Given the description of an element on the screen output the (x, y) to click on. 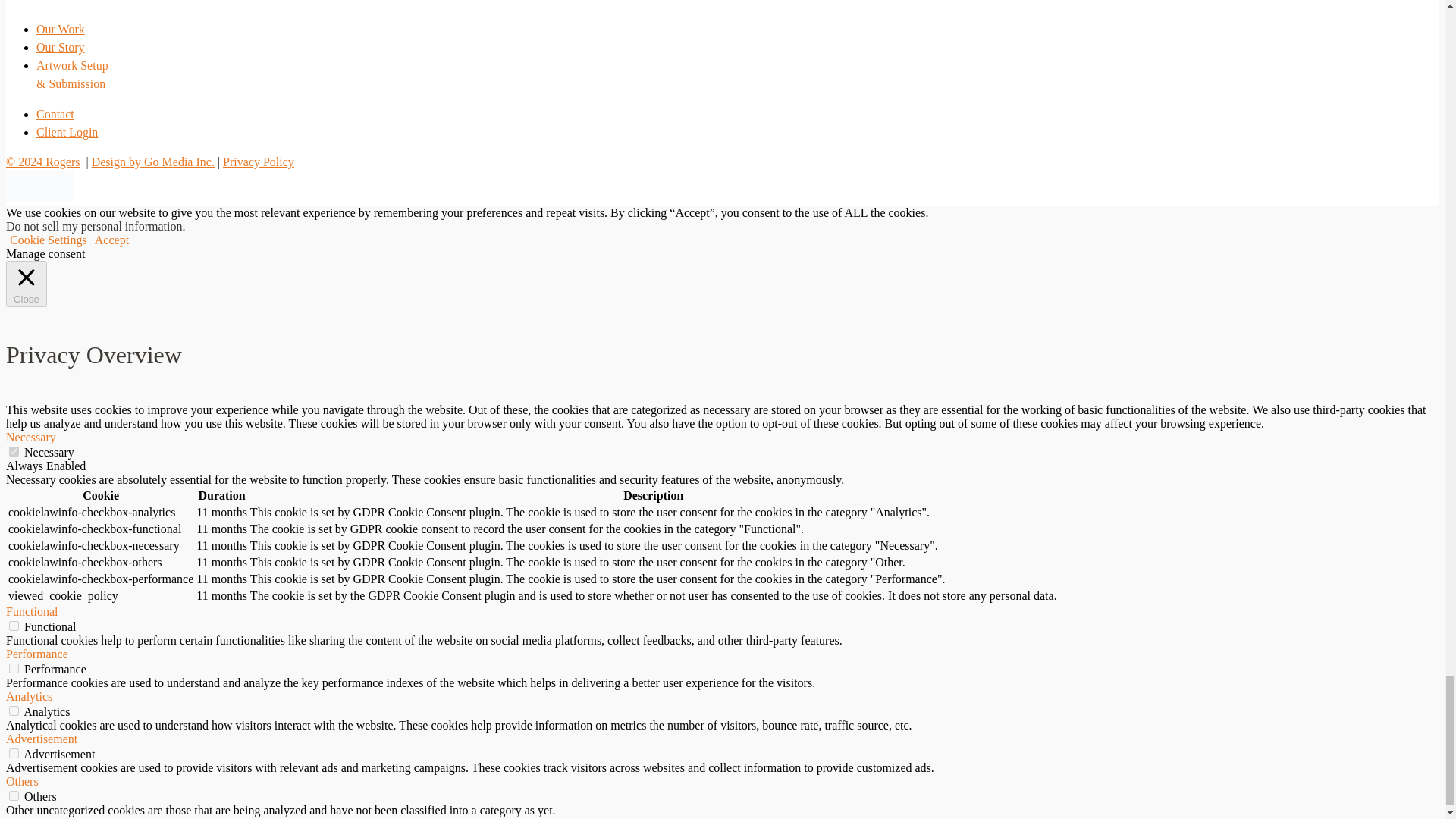
on (13, 625)
on (13, 795)
on (13, 668)
on (13, 753)
on (13, 710)
on (13, 451)
